Given the description of an element on the screen output the (x, y) to click on. 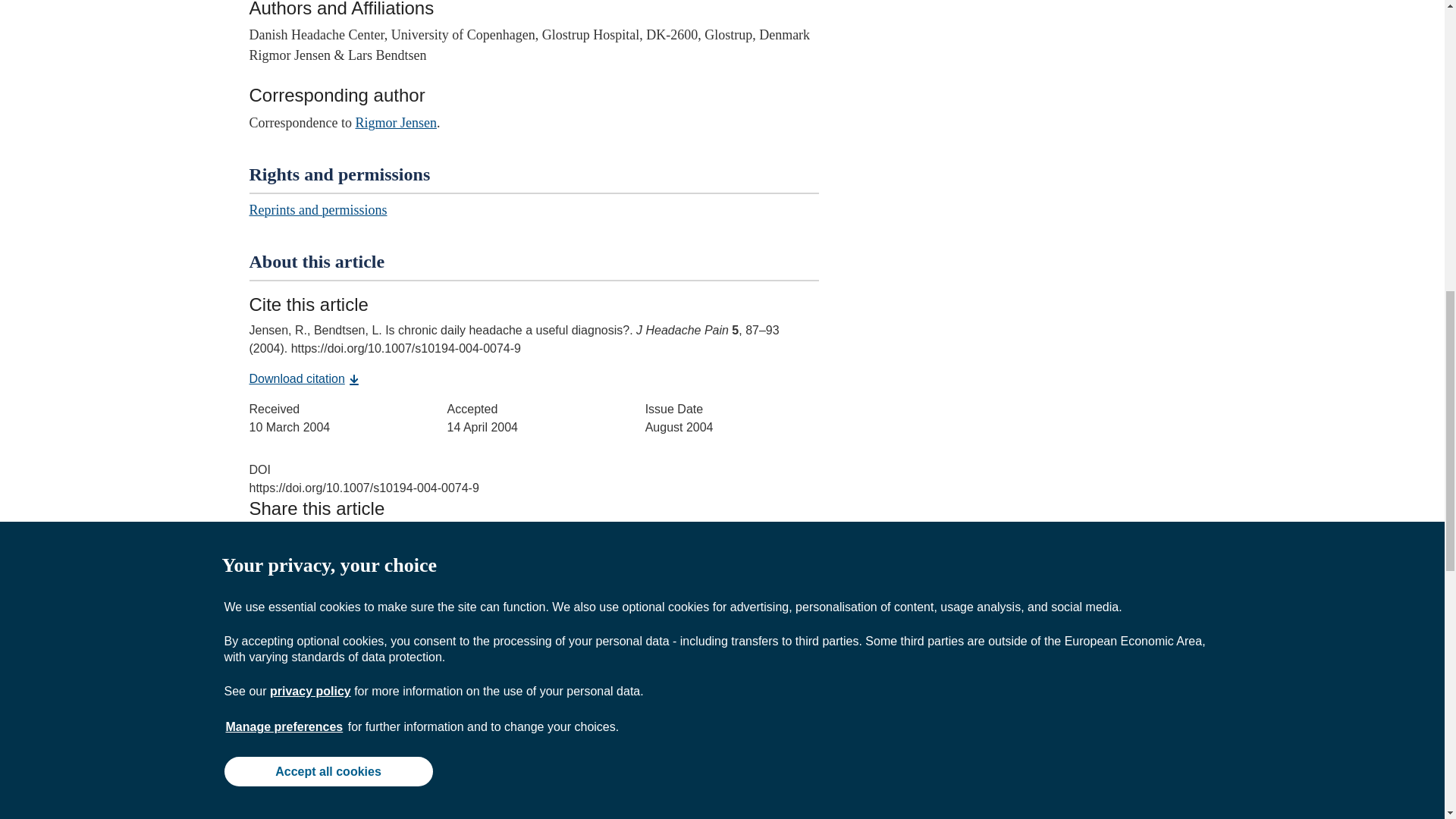
Rigmor Jensen (395, 122)
Digital Object Identifier (258, 469)
Get shareable link (313, 572)
Reprints and permissions (317, 209)
Download citation (303, 378)
